Given the description of an element on the screen output the (x, y) to click on. 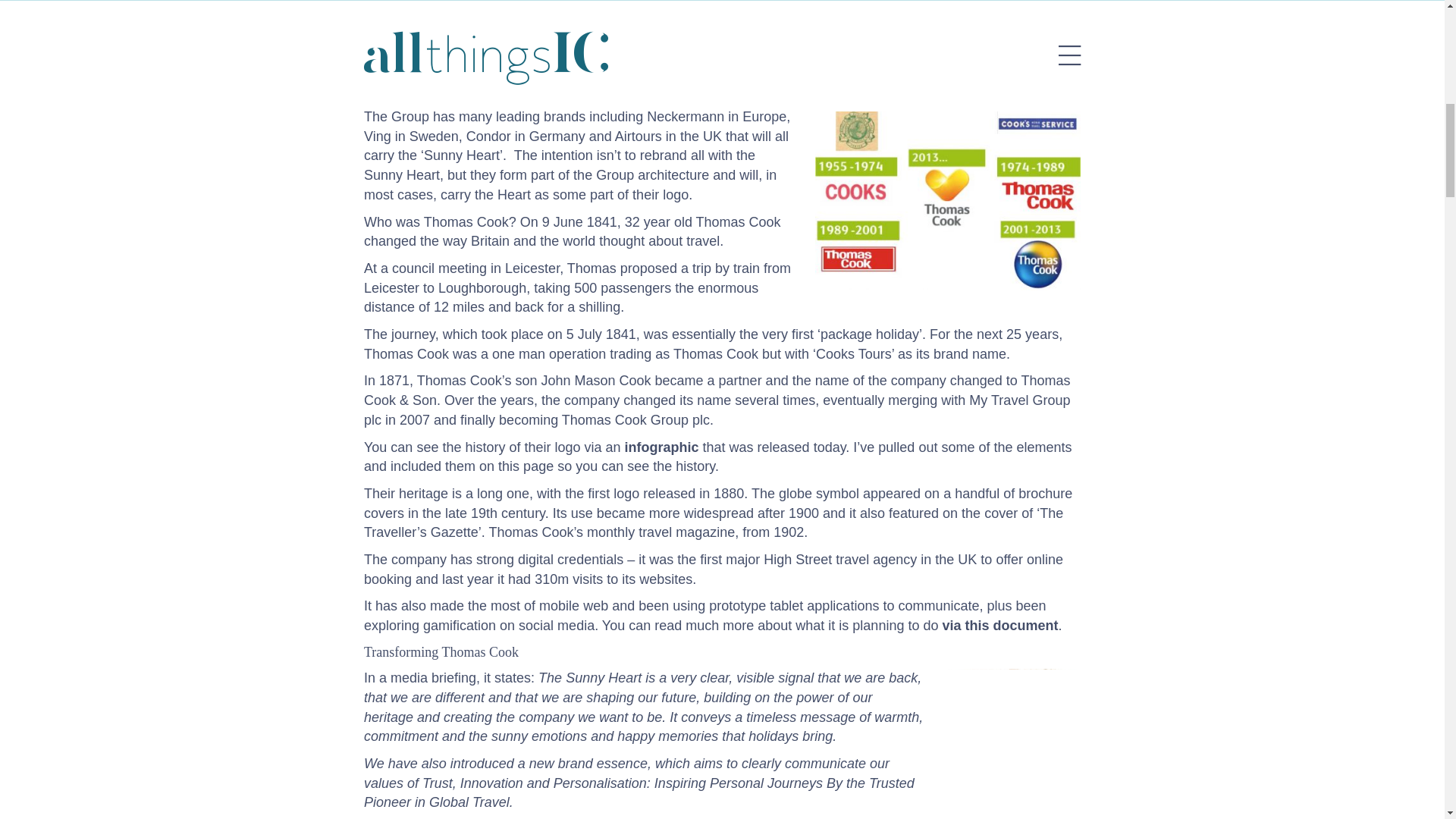
Doc (1000, 625)
Contact (552, 70)
Infographic (661, 447)
